Given the description of an element on the screen output the (x, y) to click on. 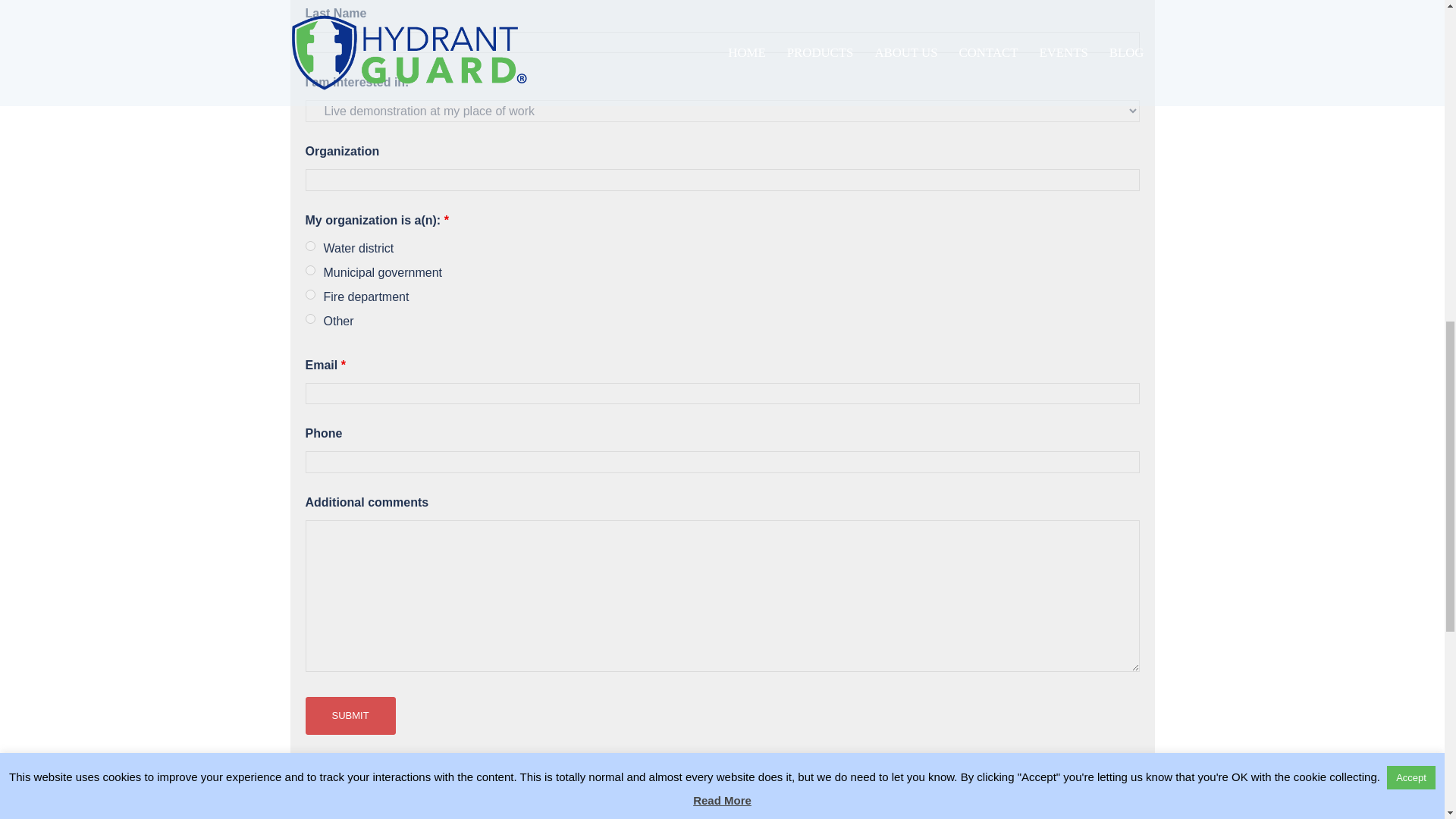
Fire department (309, 294)
Submit (349, 715)
Municipal government (309, 270)
Water district (309, 245)
Other (309, 318)
Submit (349, 715)
